Given the description of an element on the screen output the (x, y) to click on. 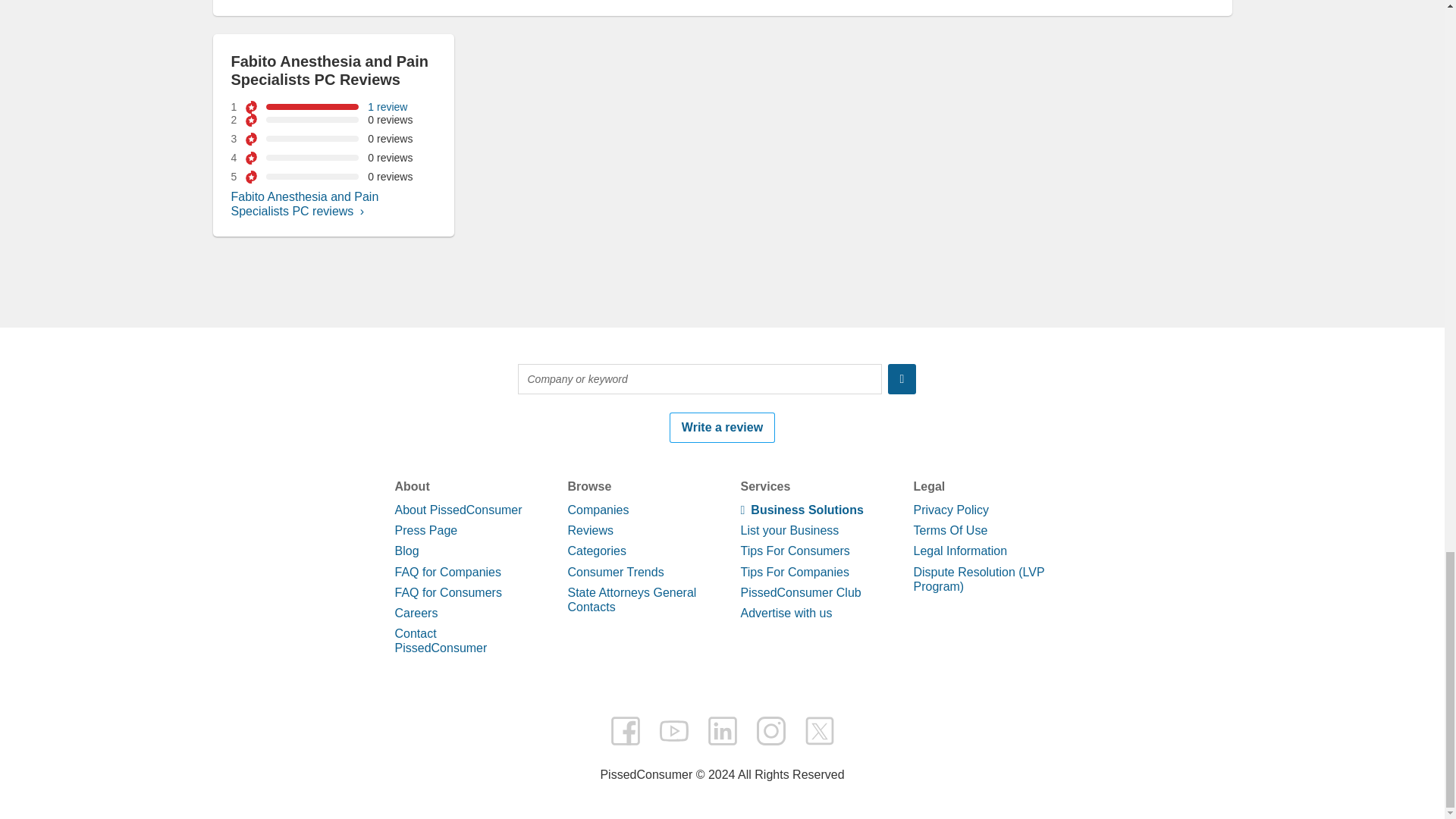
linkedin (721, 730)
Advertise with us (785, 612)
Fabito Anesthesia and Pain Specialists PC reviews (304, 203)
About PissedConsumer (457, 509)
Legal Information (959, 550)
State Attorneys General Contacts (631, 599)
youtube (673, 730)
FAQ for Consumers (447, 592)
Tips For Consumers (793, 550)
Consumer Trends (615, 571)
Contact PissedConsumer (440, 640)
PissedConsumer Club (799, 592)
Privacy Policy (950, 509)
facebook (625, 730)
